Given the description of an element on the screen output the (x, y) to click on. 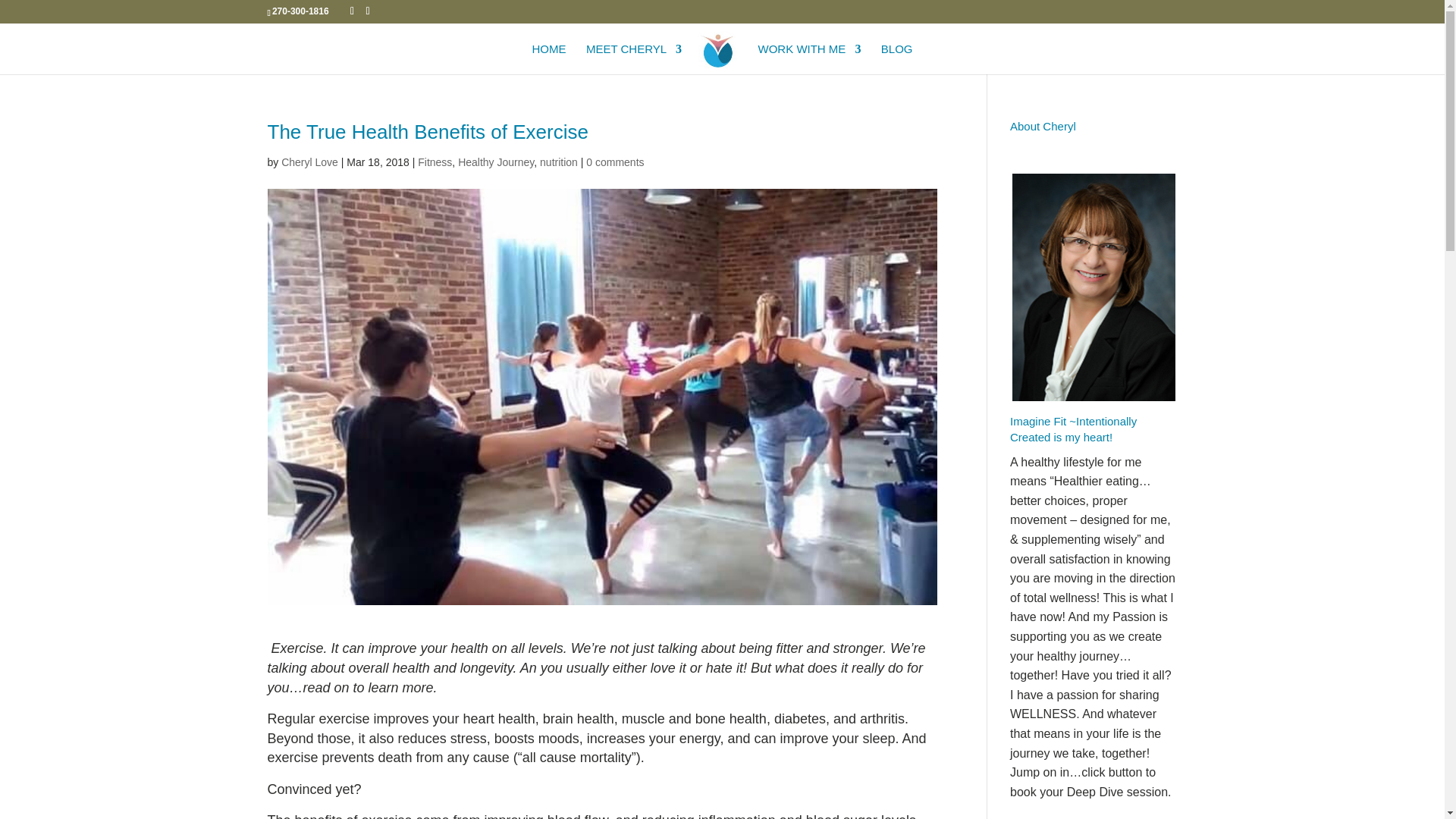
MEET CHERYL (633, 59)
Fitness (434, 162)
HOME (548, 59)
BLOG (896, 59)
Posts by Cheryl Love (309, 162)
Healthy Journey (496, 162)
Cheryl Love (309, 162)
0 comments (614, 162)
WORK WITH ME (809, 59)
nutrition (559, 162)
